Given the description of an element on the screen output the (x, y) to click on. 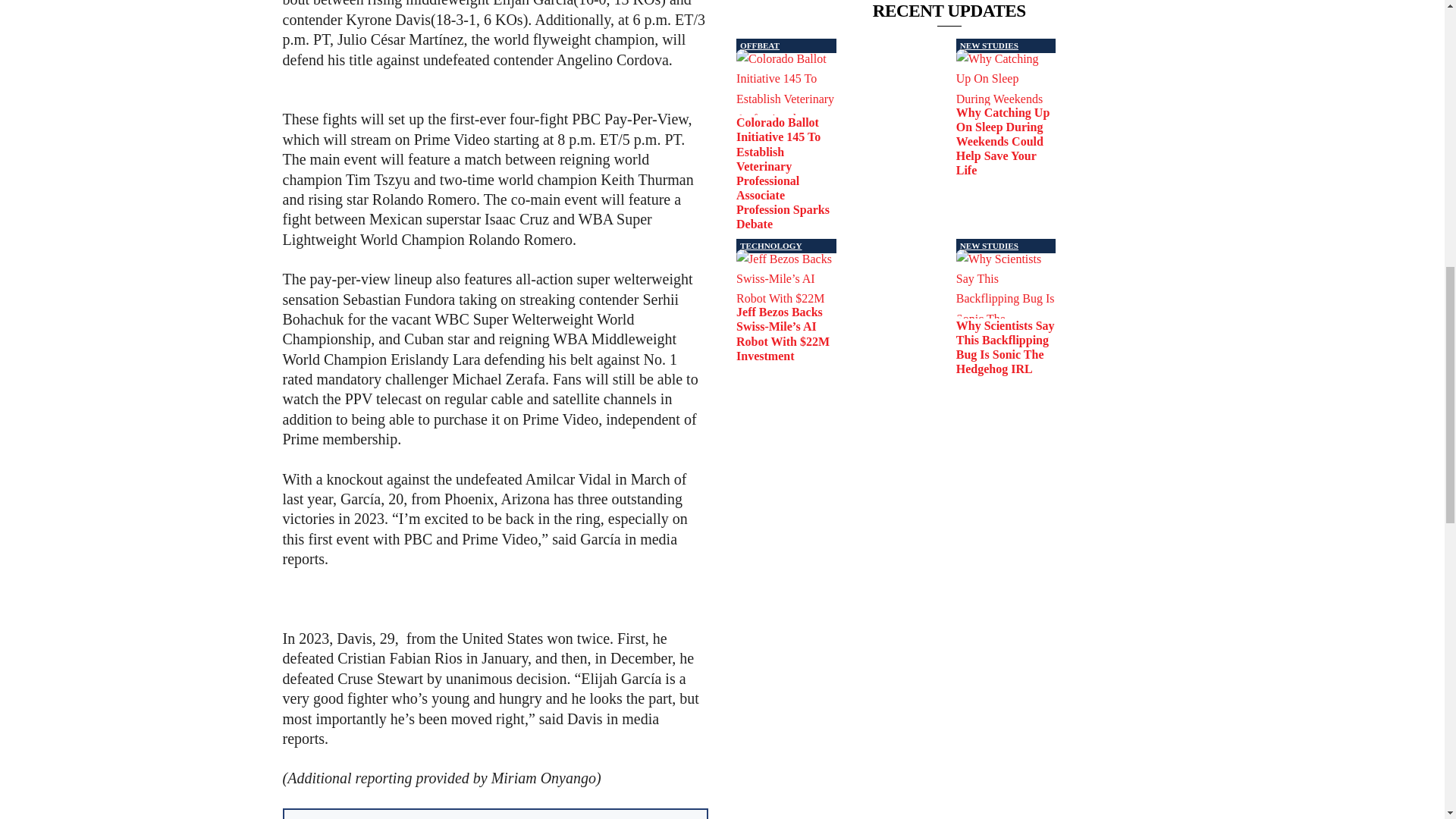
c117a8be-3cf2-4bf1-be08-bffd45344221 (785, 82)
69fb1460-202a-48ce-9c57-2a6fbc2dafea (1006, 283)
29c0b9f8-68d2-4661-a065-a177652849db (785, 277)
